Given the description of an element on the screen output the (x, y) to click on. 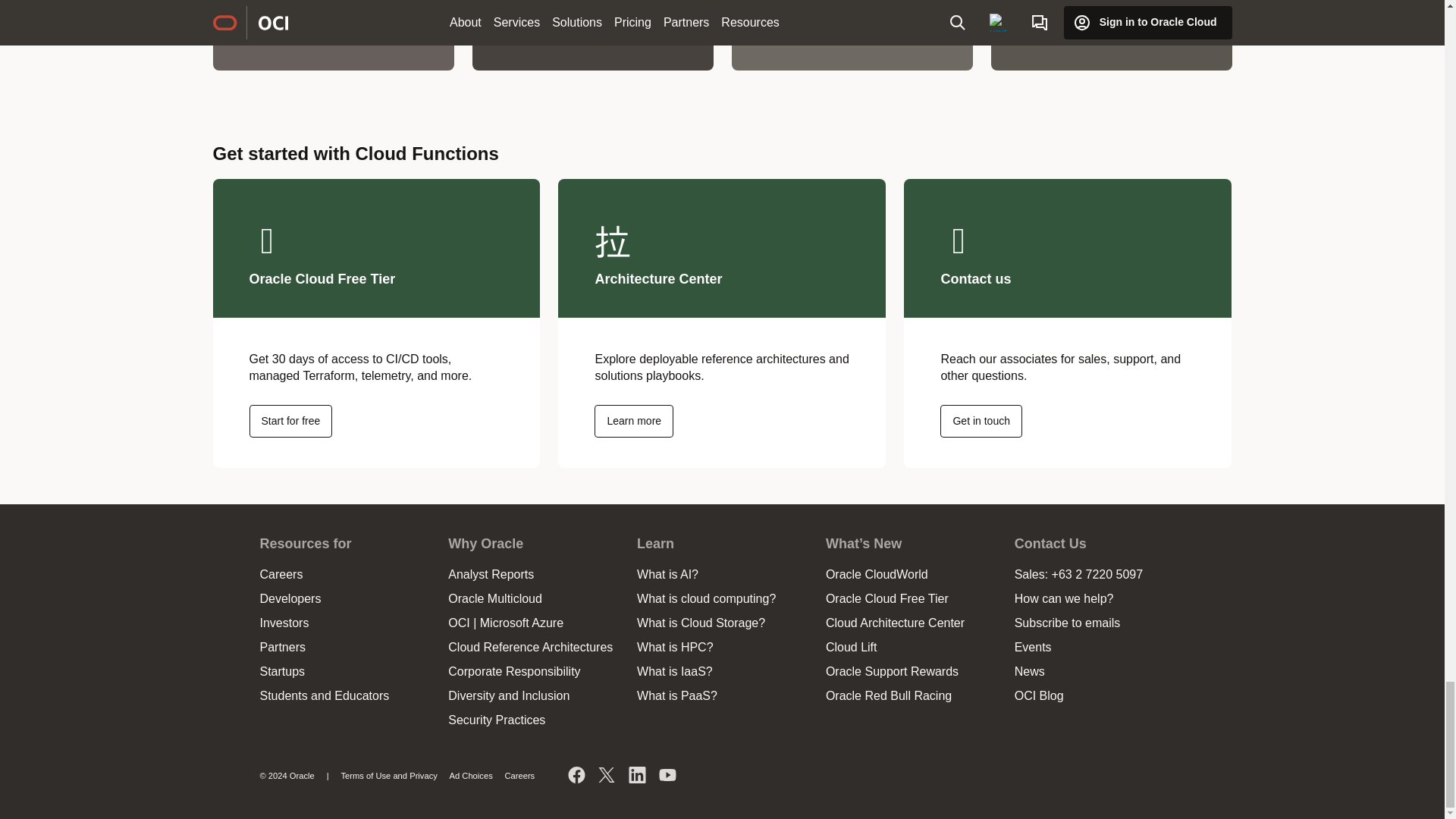
Contact Us Functions (981, 420)
